Given the description of an element on the screen output the (x, y) to click on. 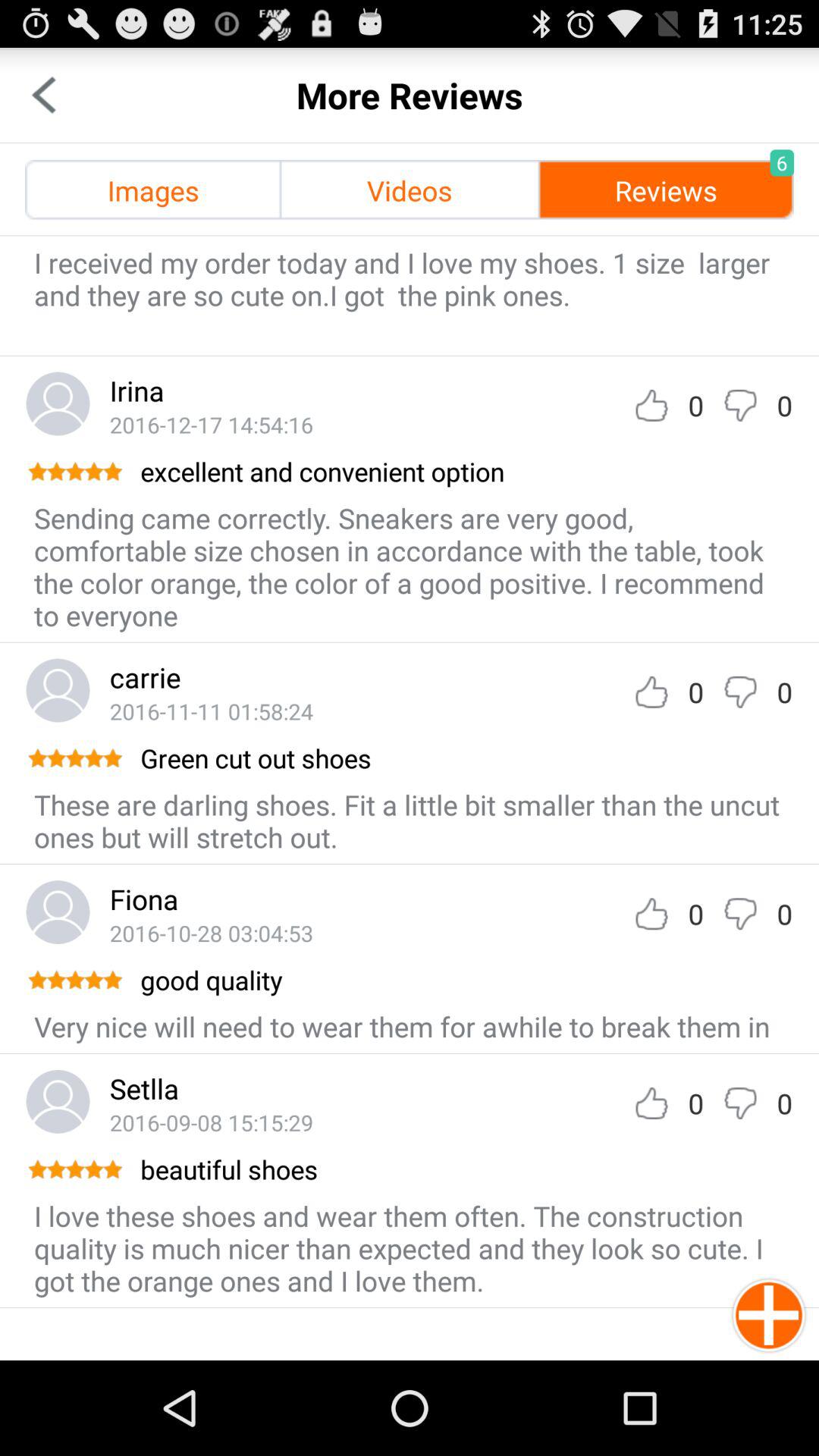
select icon above the excellent and convenient item (211, 424)
